Given the description of an element on the screen output the (x, y) to click on. 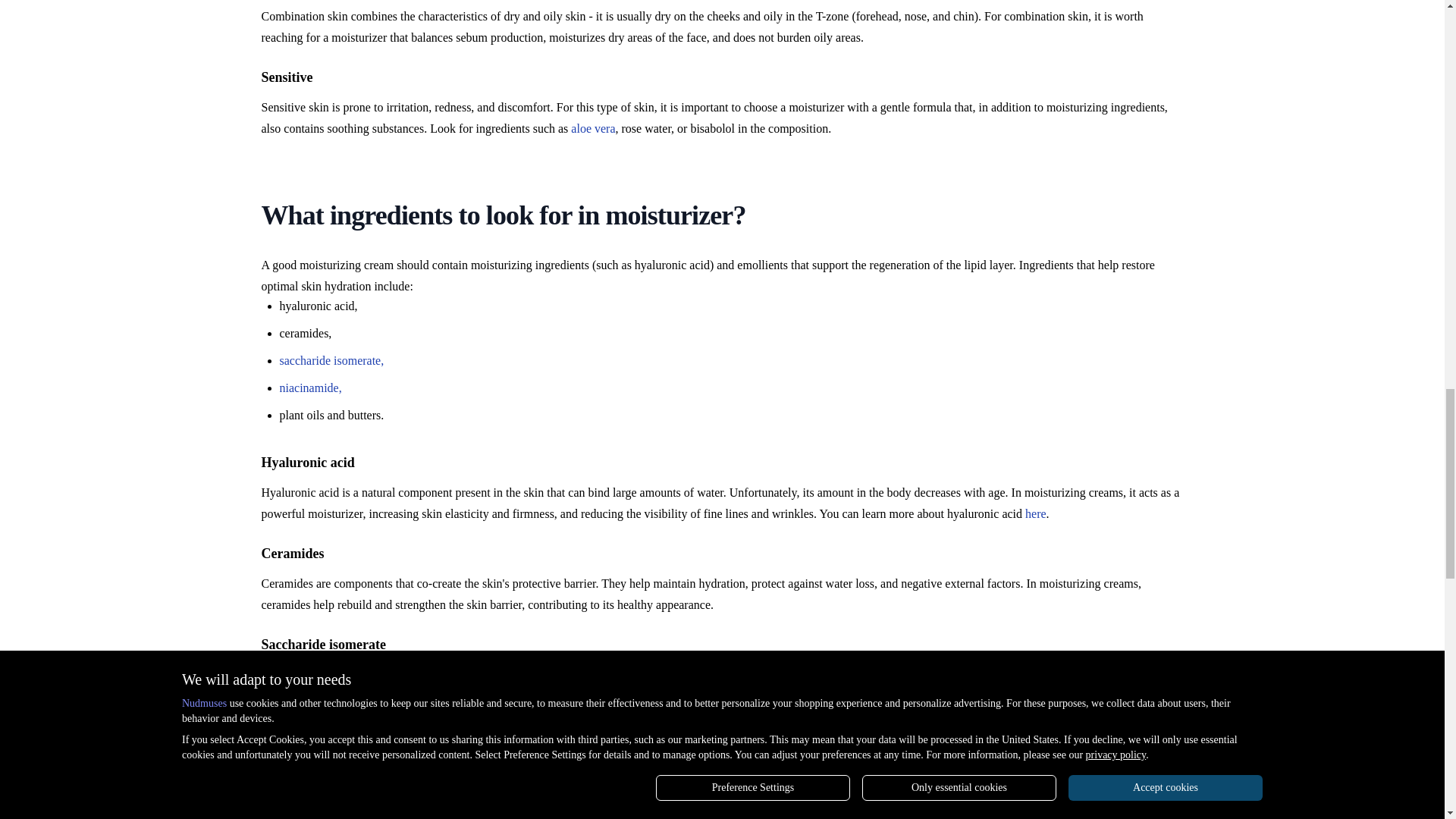
aloe vera (592, 128)
saccharide isomerate, (331, 359)
here (1035, 513)
niacinamide, (309, 387)
